Given the description of an element on the screen output the (x, y) to click on. 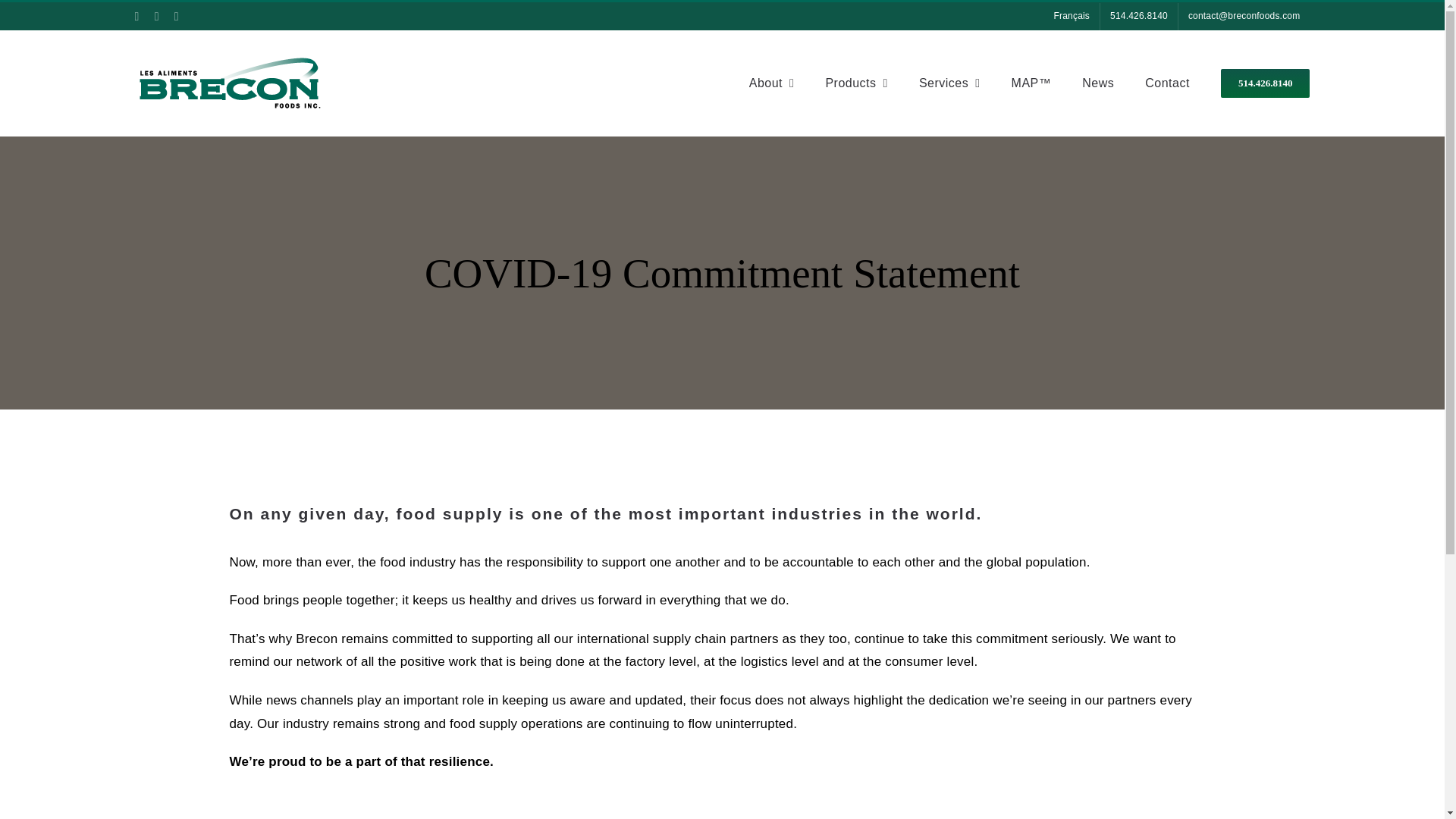
514.426.8140 (1138, 16)
